Given the description of an element on the screen output the (x, y) to click on. 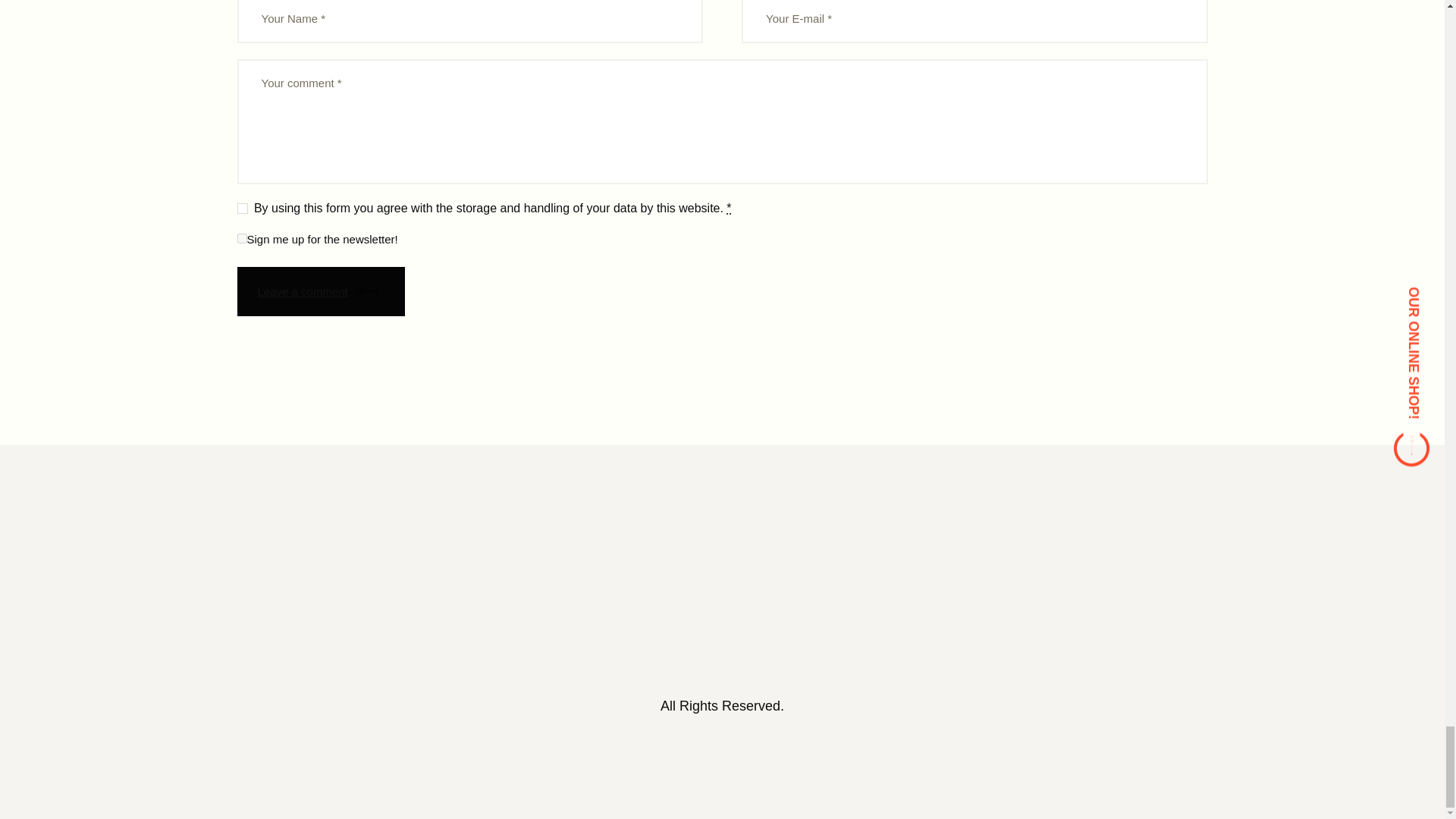
1 (240, 238)
Leave a comment (319, 291)
1 (240, 204)
